Given the description of an element on the screen output the (x, y) to click on. 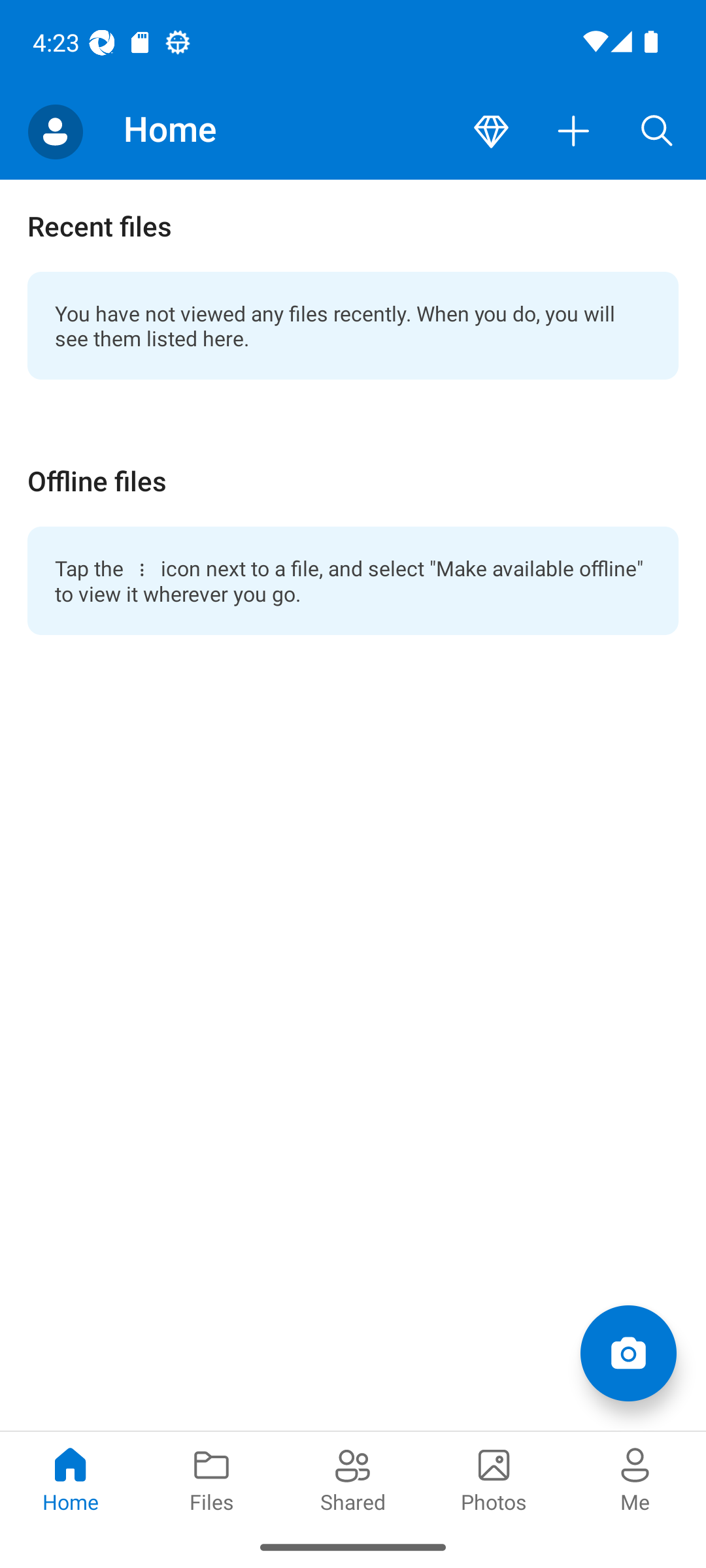
Account switcher (55, 131)
Premium button (491, 131)
More actions button (574, 131)
Search button (656, 131)
Scan (628, 1352)
Files pivot Files (211, 1478)
Shared pivot Shared (352, 1478)
Photos pivot Photos (493, 1478)
Me pivot Me (635, 1478)
